Given the description of an element on the screen output the (x, y) to click on. 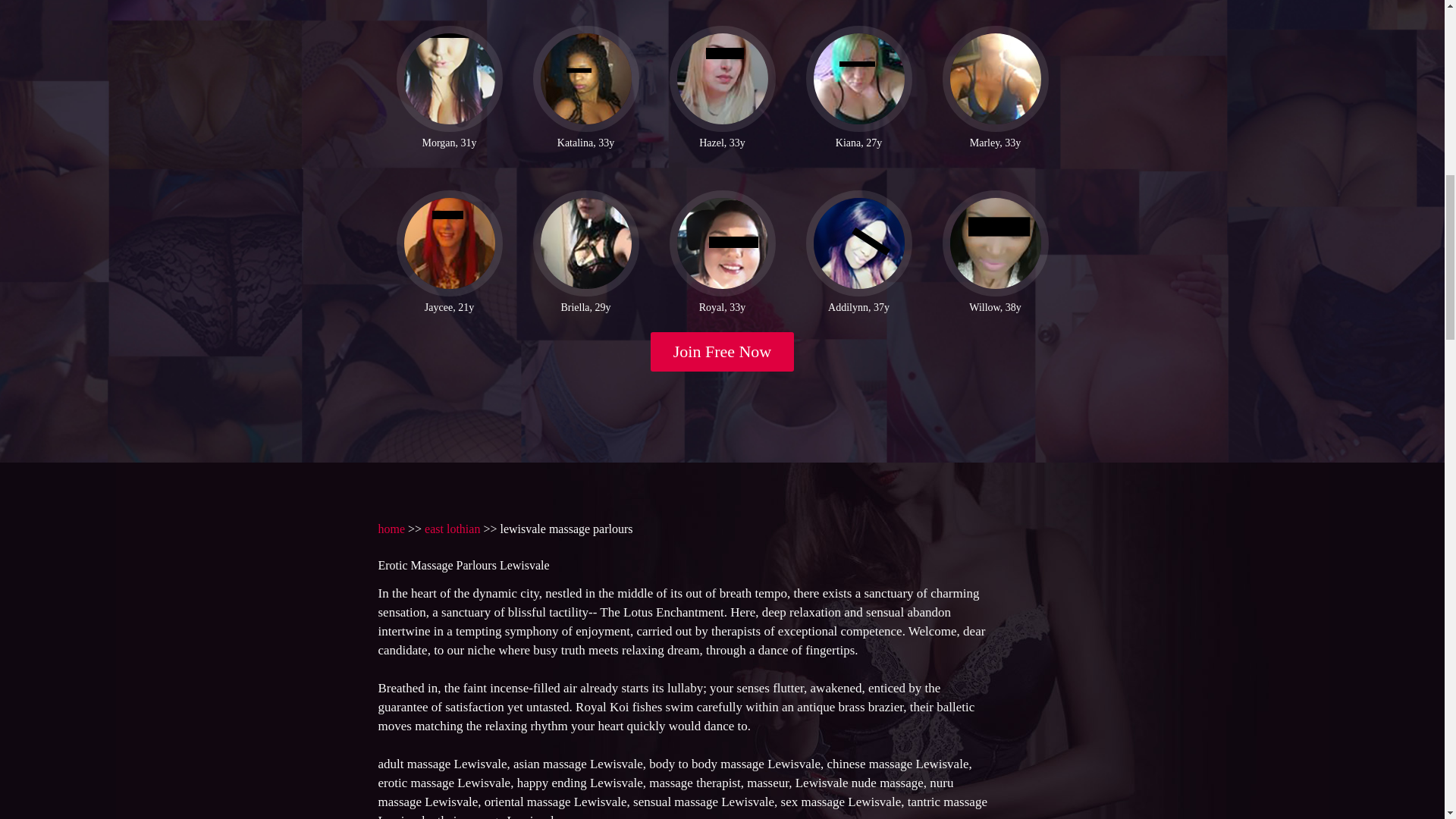
Join Free Now (722, 351)
Join (722, 351)
home (390, 528)
east lothian (452, 528)
